Given the description of an element on the screen output the (x, y) to click on. 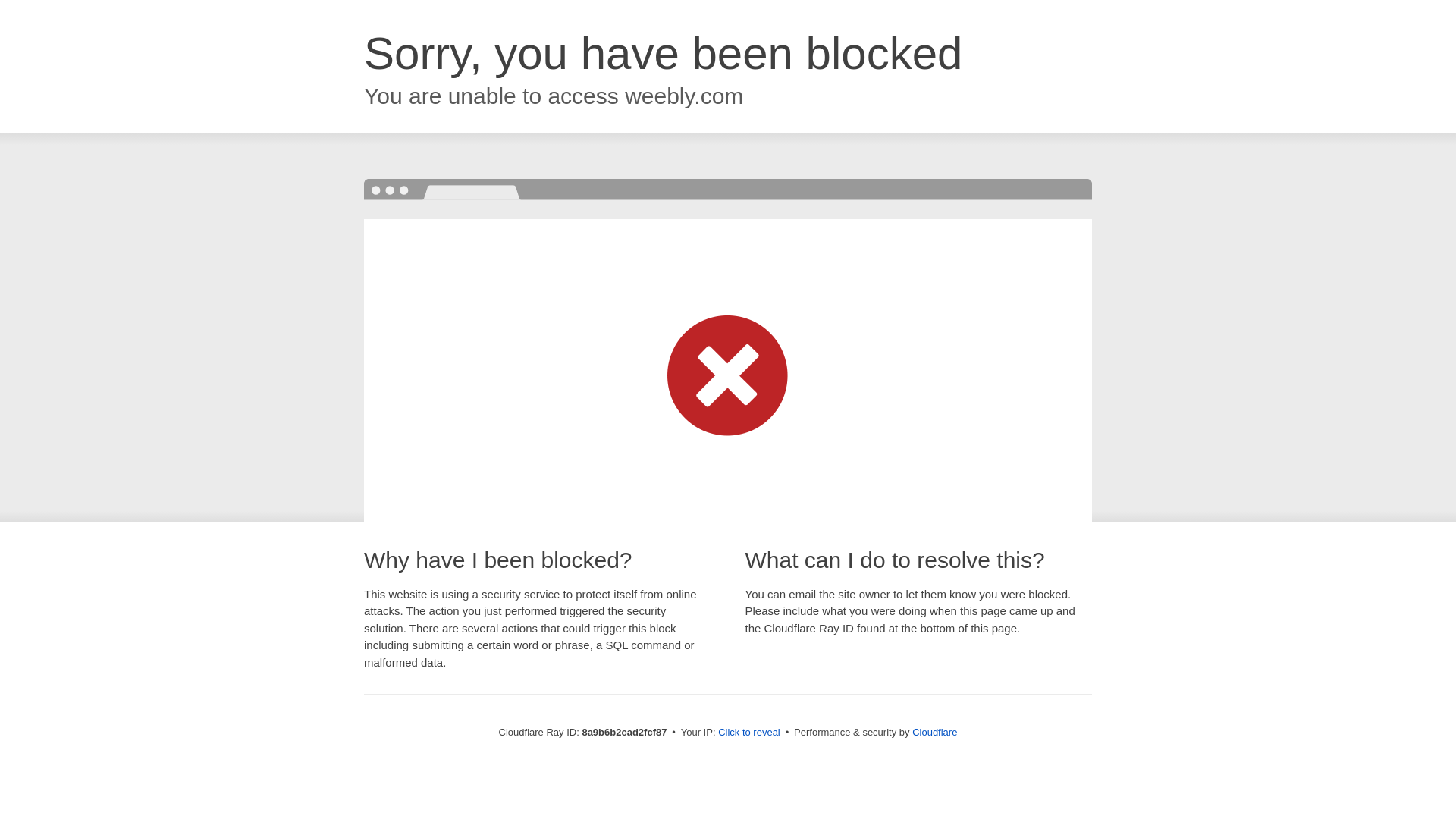
Cloudflare (934, 731)
Click to reveal (748, 732)
